Given the description of an element on the screen output the (x, y) to click on. 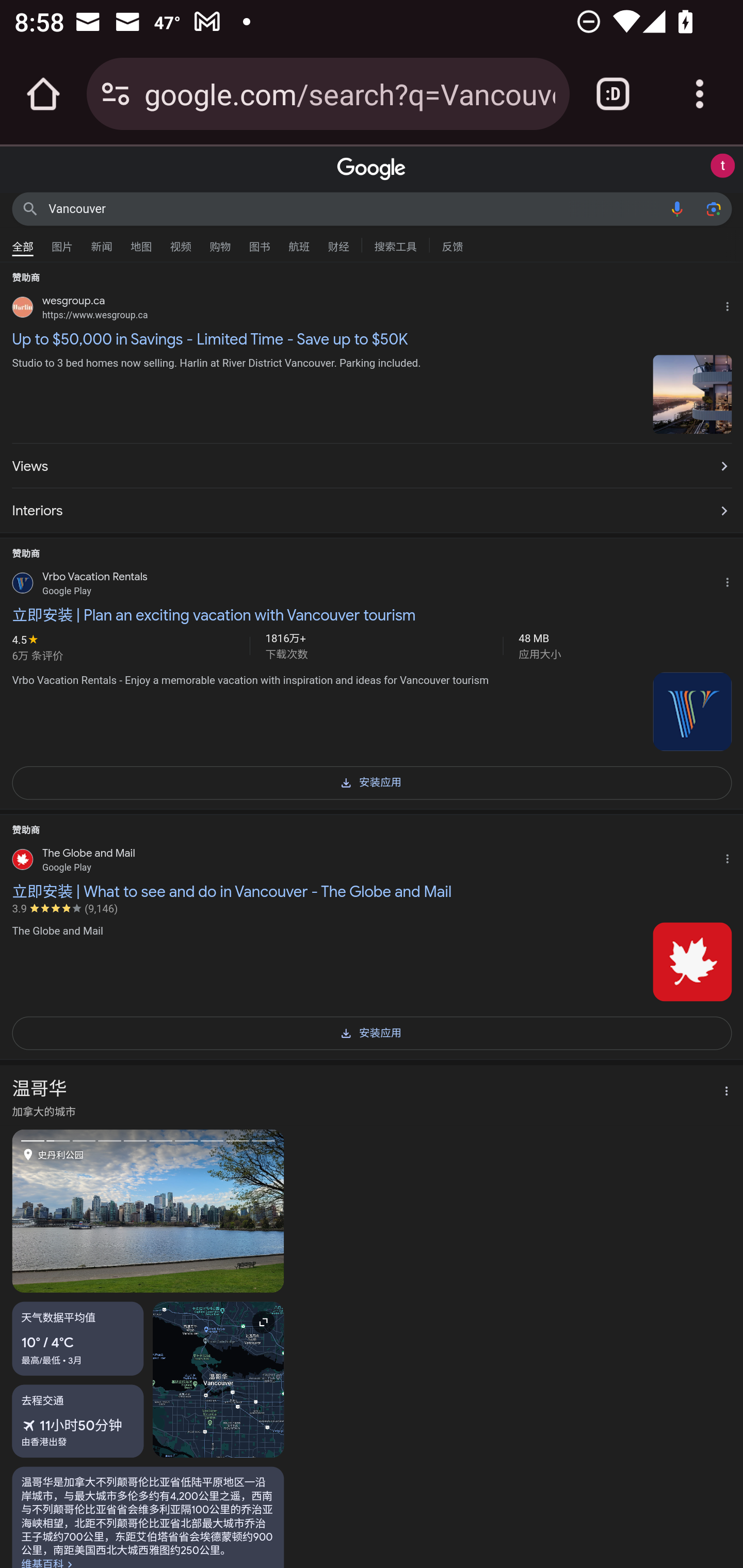
Open the home page (43, 93)
Connection is secure (115, 93)
Switch or close tabs (612, 93)
Customize and control Google Chrome (699, 93)
Google (371, 169)
Google 账号： test appium (testappium002@gmail.com) (722, 165)
Google 搜索 (29, 208)
使用拍照功能或照片进行搜索 (712, 208)
Vancouver (353, 208)
图片 (62, 241)
新闻 (101, 241)
地图 (141, 241)
视频 (180, 241)
购物 (219, 241)
图书 (259, 241)
航班 (299, 241)
财经 (338, 241)
搜索工具 (395, 244)
反馈 (452, 244)
为什么会显示该广告？ (731, 303)
图片来自 wesgroup.ca (691, 394)
Views (371, 466)
Interiors (371, 507)
为什么会显示该广告？ (731, 579)
图片来自 google.com (691, 711)
安装应用 (371, 780)
为什么会显示该广告？ (731, 855)
图片来自 google.com (691, 961)
安装应用 (371, 1031)
更多选项 (720, 1092)
天气数据平均值 10° / 4°C 最高/最低 • 3月 (77, 1338)
展开地图 (217, 1379)
去程交通 11小时50分钟 乘坐飞机 由香港出發 (77, 1421)
%E6%BA%AB%E5%93%A5%E8%8F%AF (147, 1521)
